Given the description of an element on the screen output the (x, y) to click on. 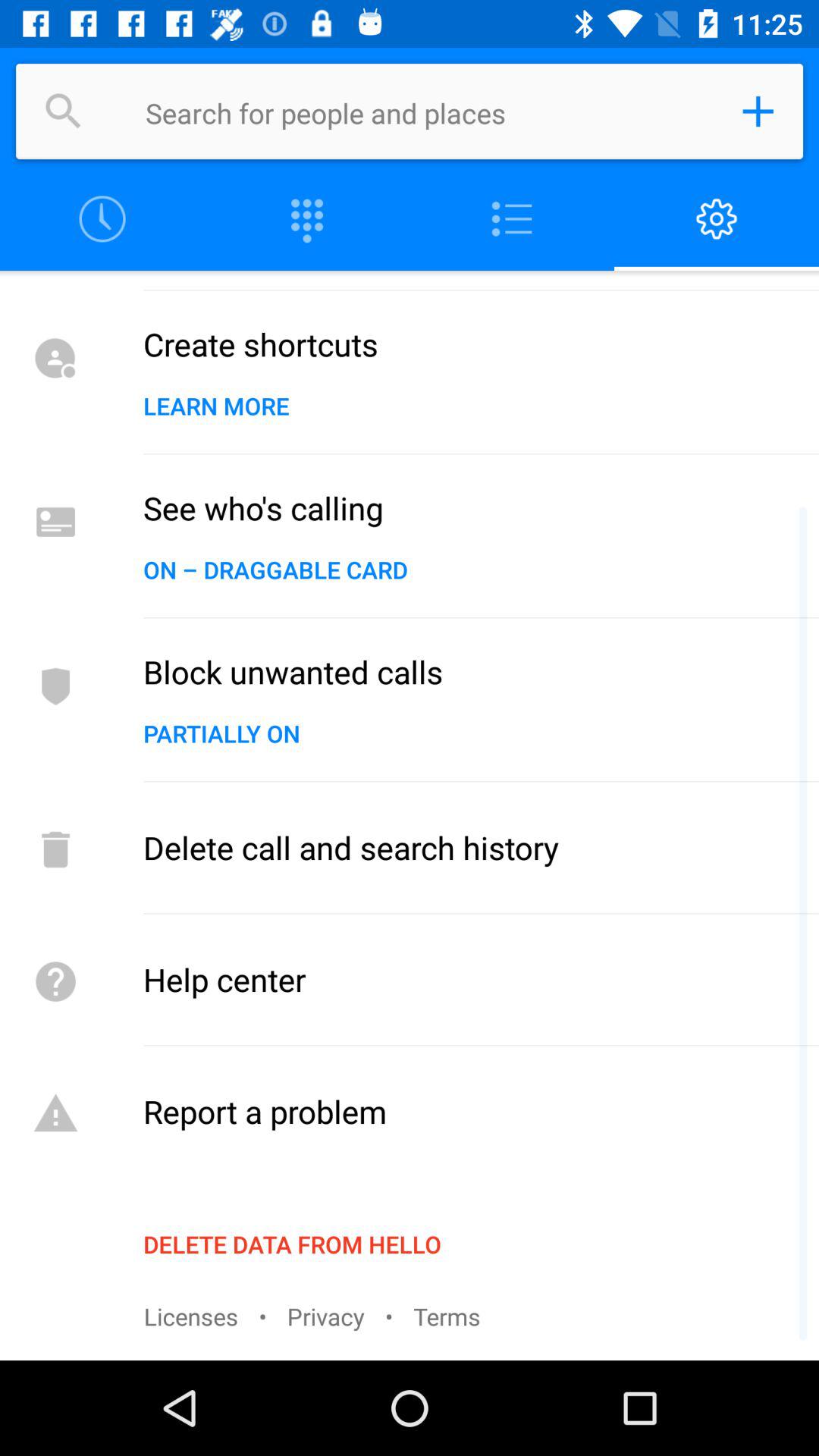
tap item above the licenses (292, 1244)
